Given the description of an element on the screen output the (x, y) to click on. 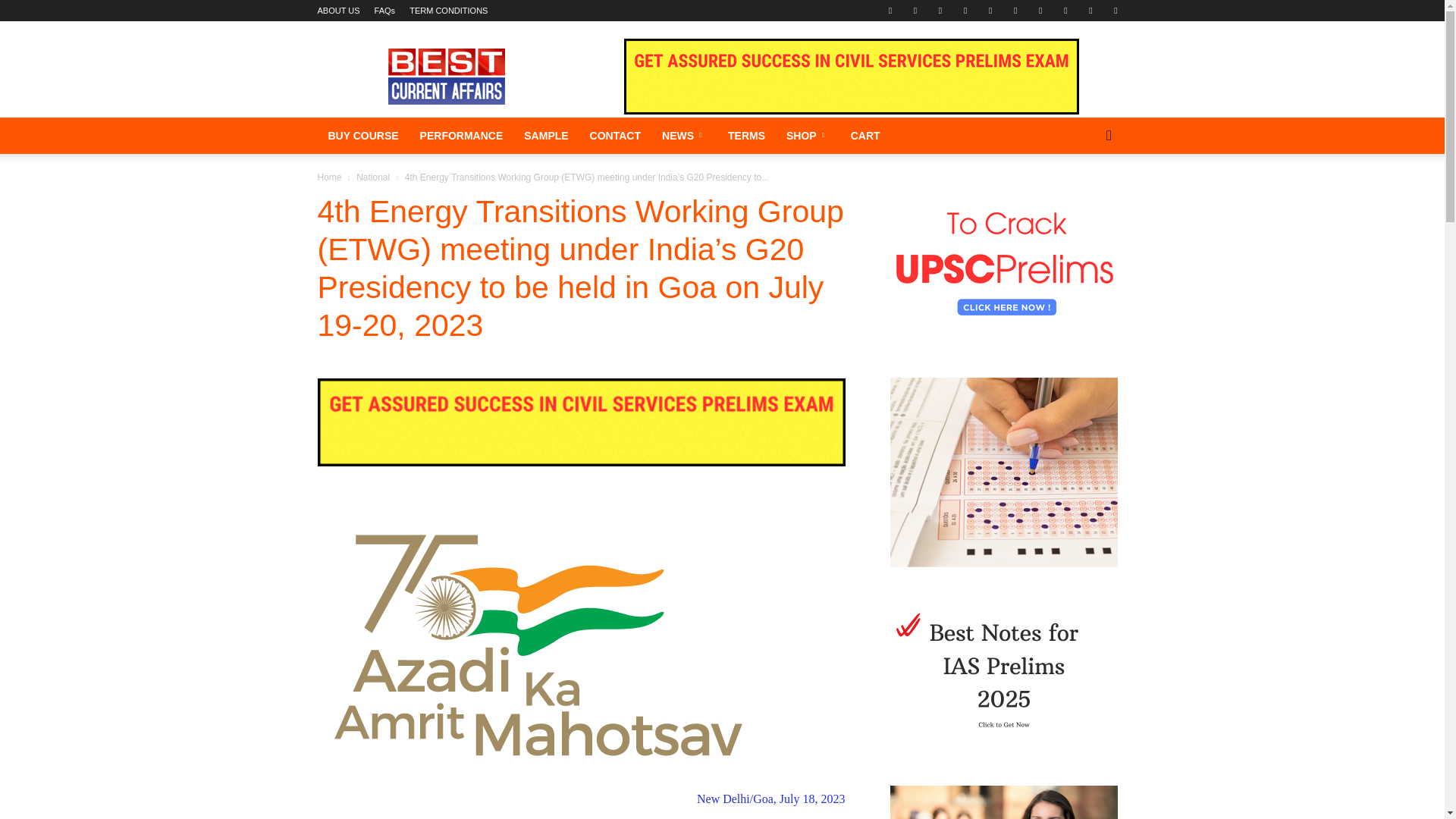
Flickr (915, 10)
Instagram (964, 10)
FAQs (385, 10)
Facebook (890, 10)
TERM CONDITIONS (448, 10)
ABOUT US (338, 10)
